Given the description of an element on the screen output the (x, y) to click on. 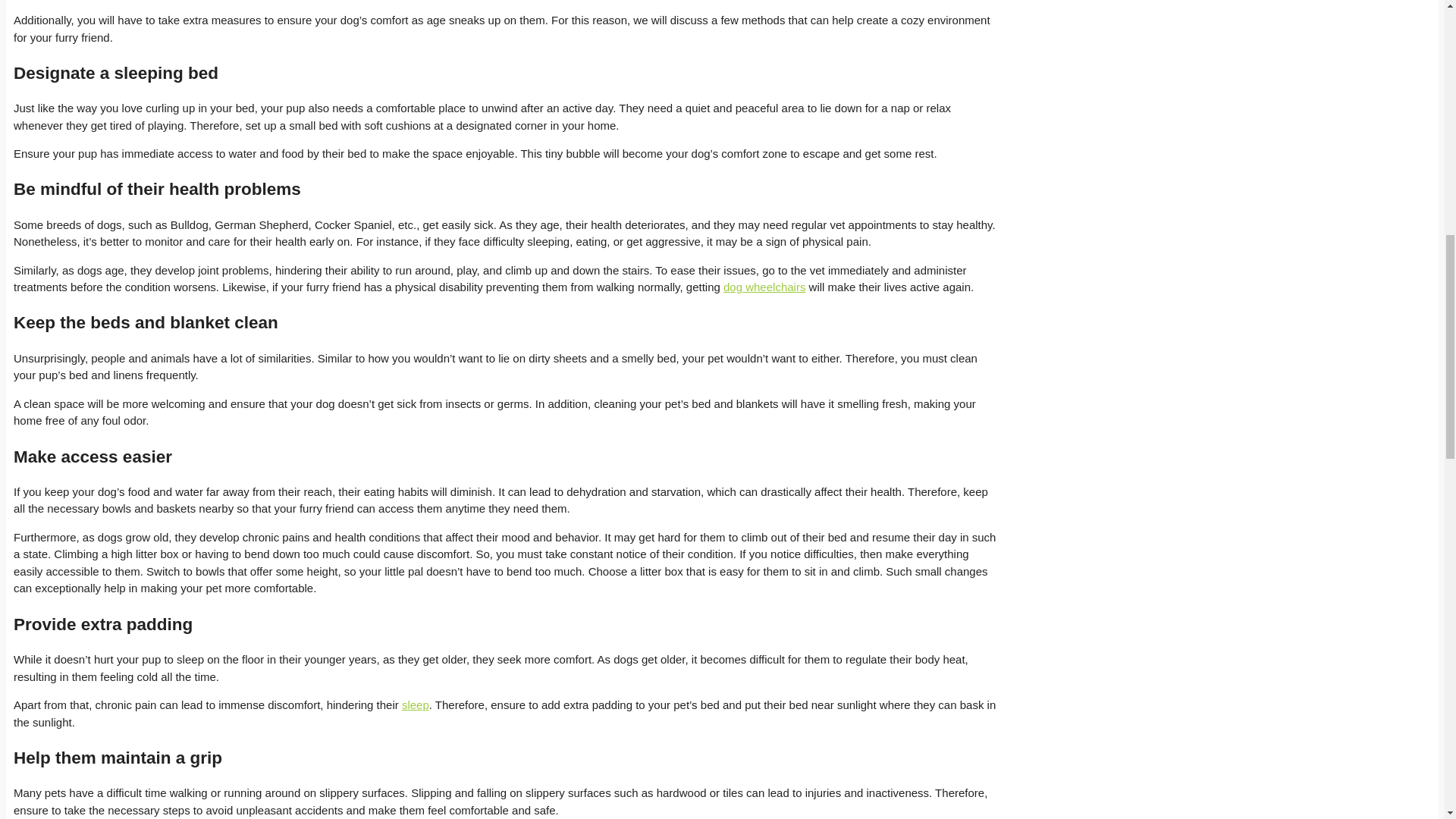
dog wheelchairs (764, 286)
sleep (415, 704)
